Given the description of an element on the screen output the (x, y) to click on. 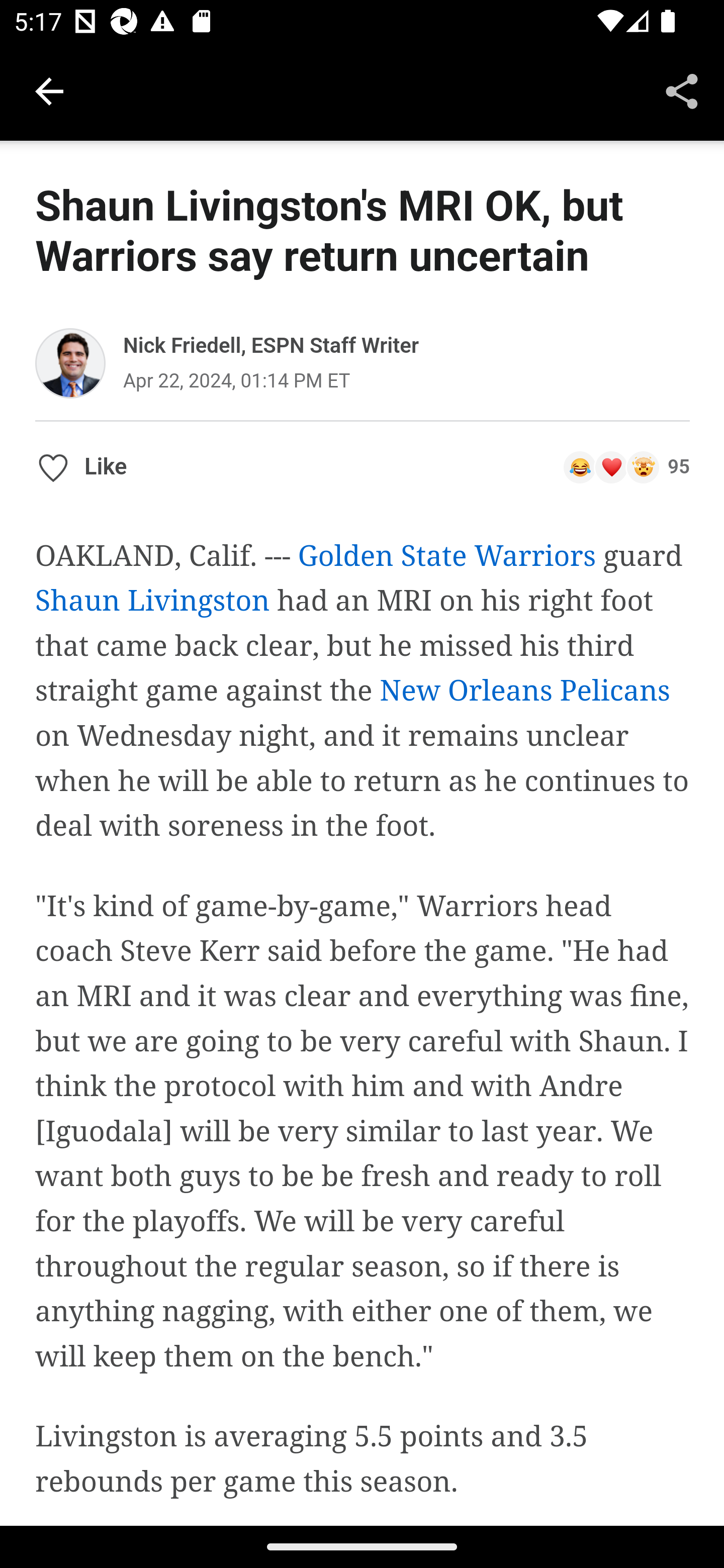
Navigate up (49, 91)
Share (681, 90)
